Given the description of an element on the screen output the (x, y) to click on. 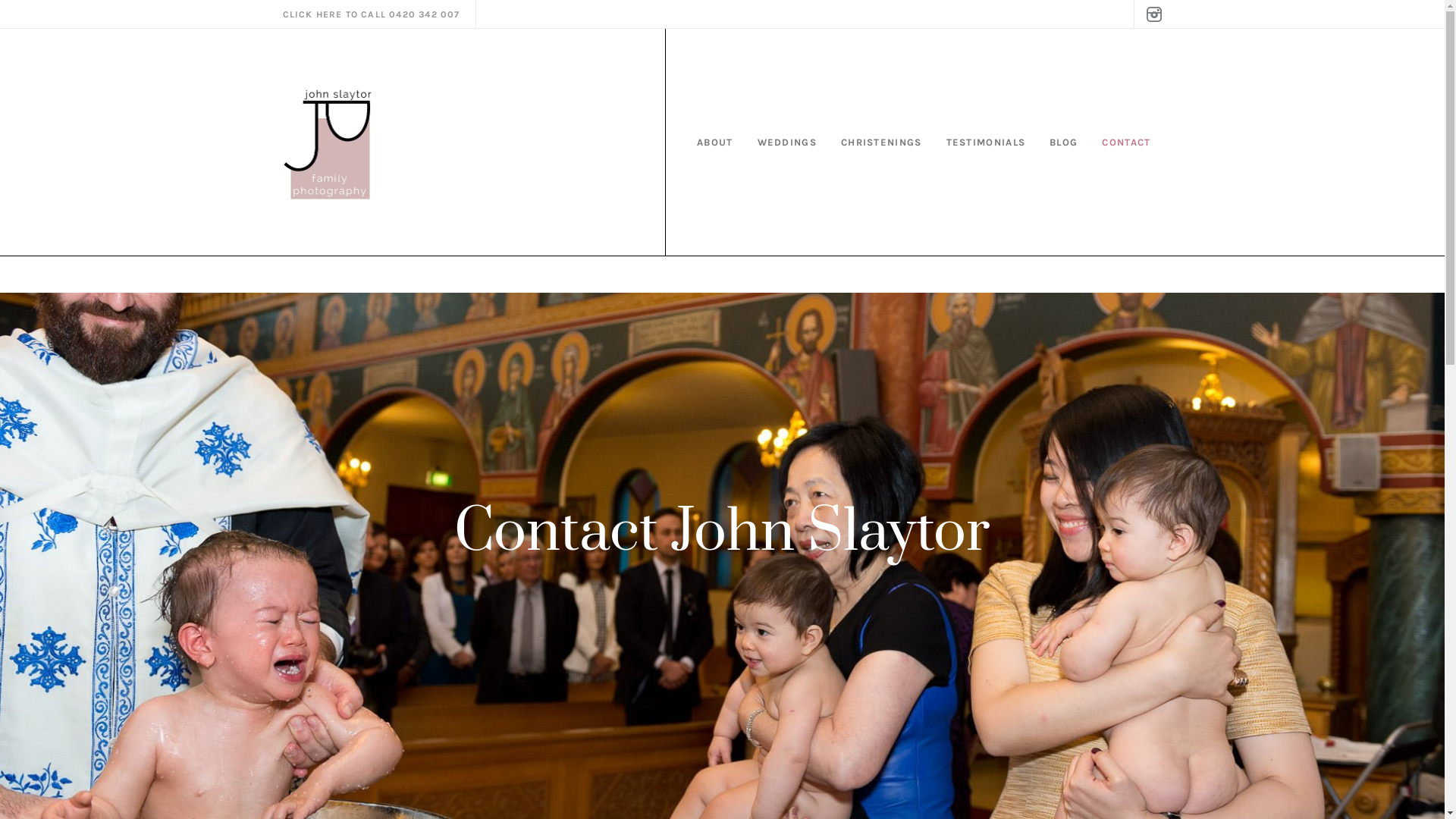
WEDDINGS Element type: text (786, 141)
TESTIMONIALS Element type: text (985, 141)
ABOUT Element type: text (714, 141)
Instagram Element type: hover (1153, 14)
CONTACT Element type: text (1125, 141)
BLOG Element type: text (1062, 141)
CHRISTENINGS Element type: text (880, 141)
CLICK HERE TO CALL 0420 342 007 Element type: text (370, 14)
